Given the description of an element on the screen output the (x, y) to click on. 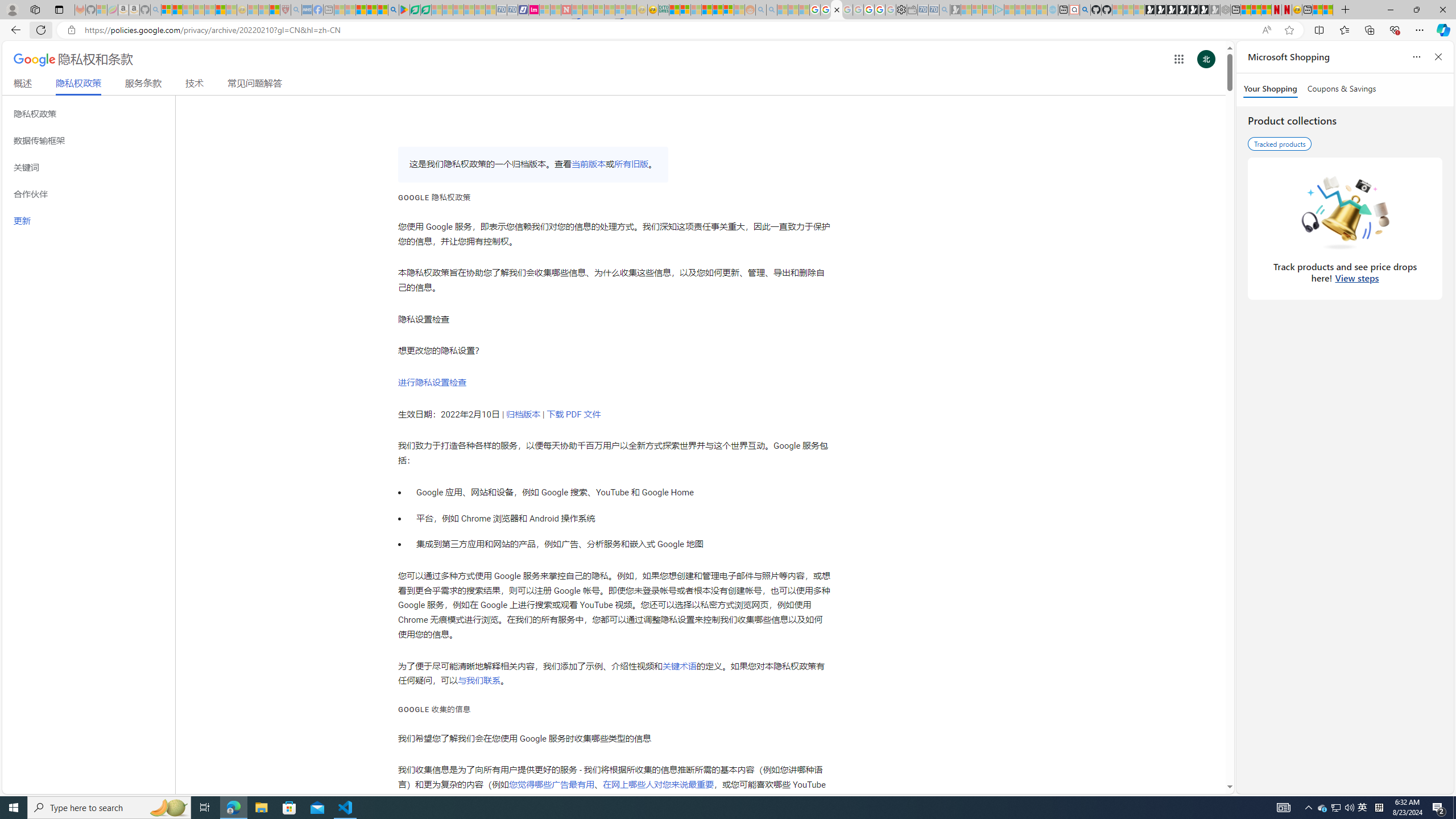
Kinda Frugal - MSN (717, 9)
Local - MSN (274, 9)
